Given the description of an element on the screen output the (x, y) to click on. 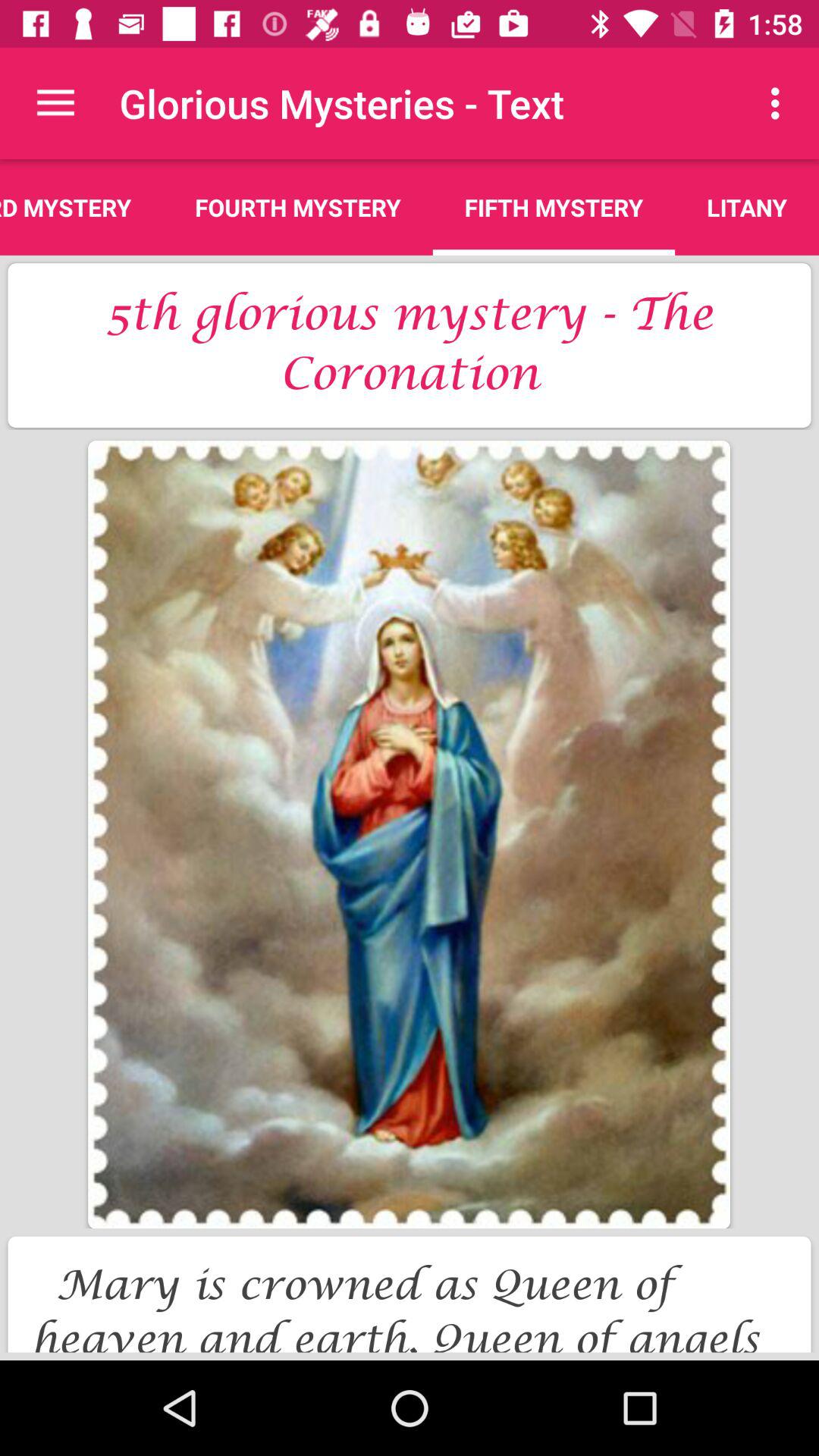
launch item to the left of the glorious mysteries - text icon (55, 103)
